Given the description of an element on the screen output the (x, y) to click on. 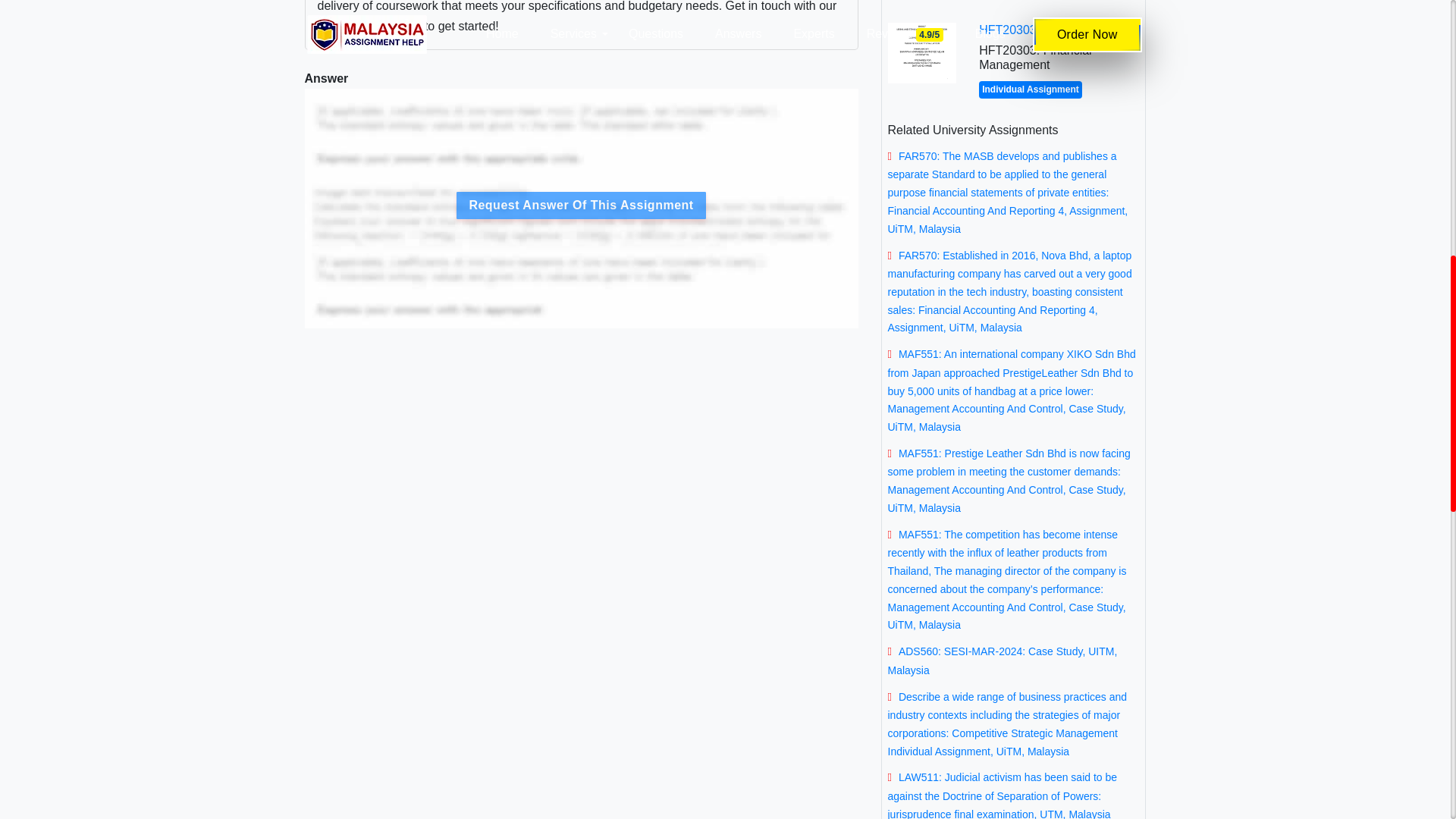
Request Answer Of This Assignment (580, 340)
Hire a Writer Now (507, 223)
Request Answer Of This Assignment (580, 205)
